Given the description of an element on the screen output the (x, y) to click on. 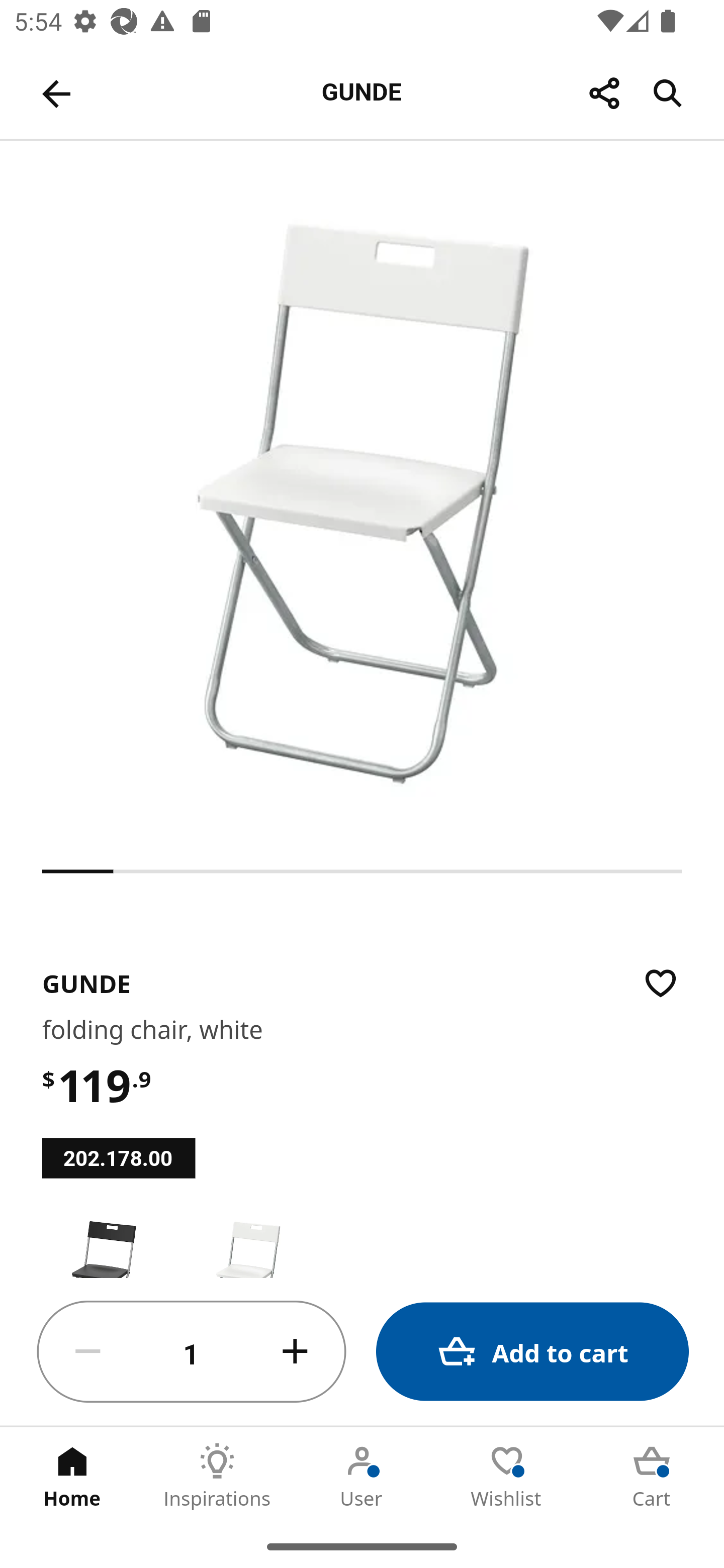
Add to cart (531, 1352)
1 (191, 1352)
Home
Tab 1 of 5 (72, 1476)
Inspirations
Tab 2 of 5 (216, 1476)
User
Tab 3 of 5 (361, 1476)
Wishlist
Tab 4 of 5 (506, 1476)
Cart
Tab 5 of 5 (651, 1476)
